Given the description of an element on the screen output the (x, y) to click on. 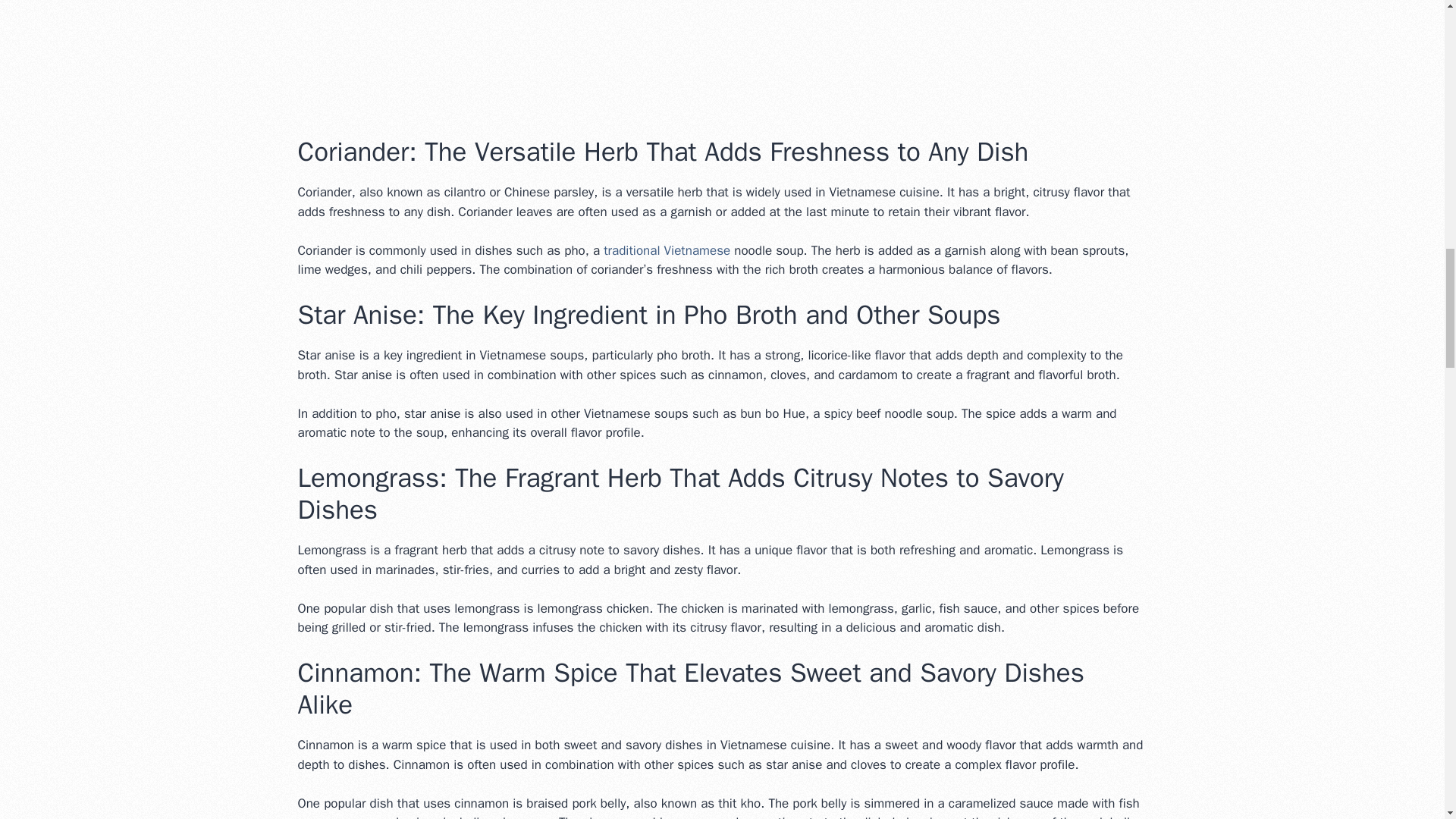
traditional Vietnamese (667, 250)
Most Common Spicies and Herbs in Vietnam (722, 55)
